Given the description of an element on the screen output the (x, y) to click on. 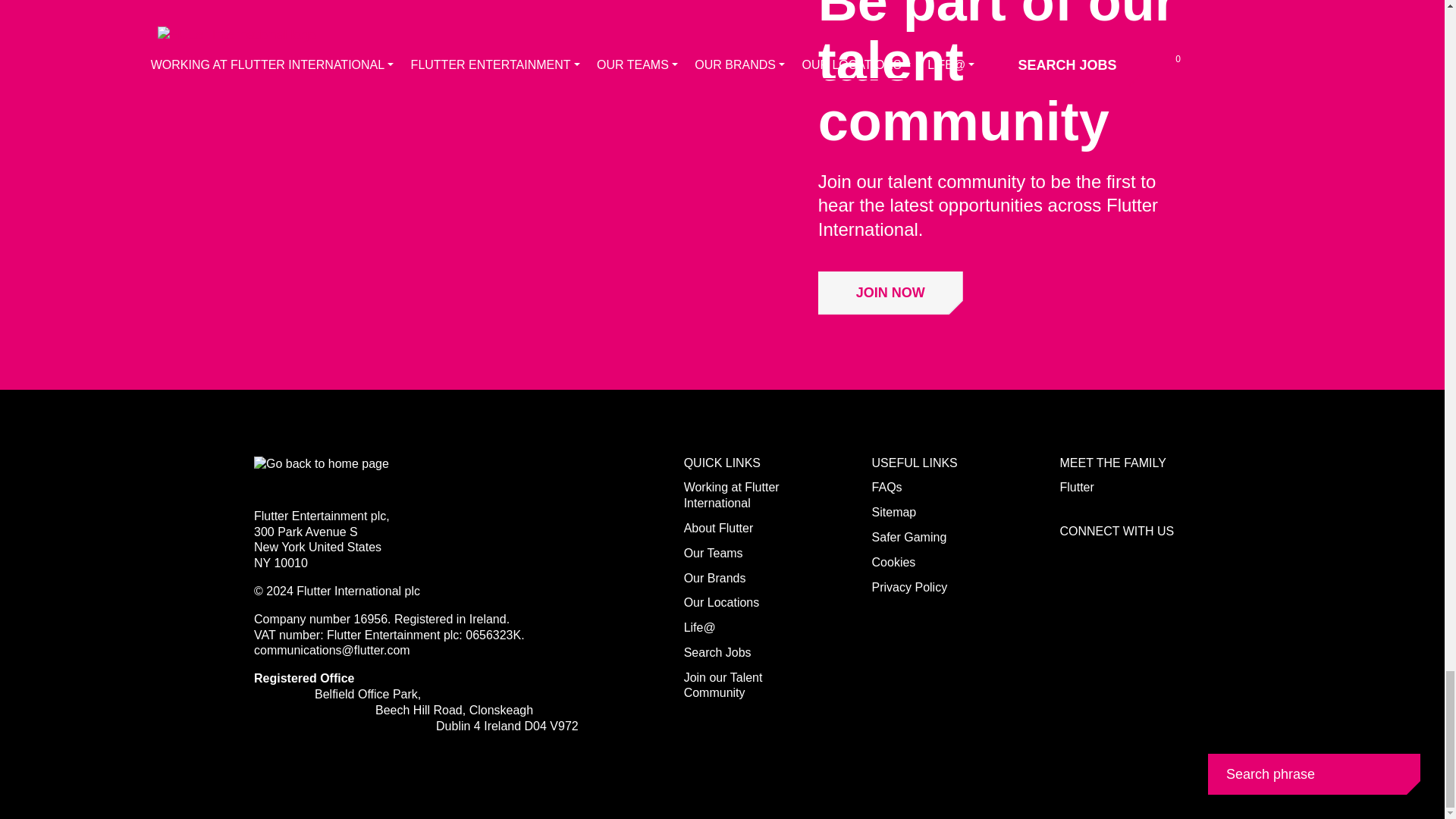
youtube (1168, 555)
instagram (1068, 587)
glassdoor (1101, 587)
twitter (1101, 555)
linkedin (1135, 555)
facebook (1068, 555)
